Given the description of an element on the screen output the (x, y) to click on. 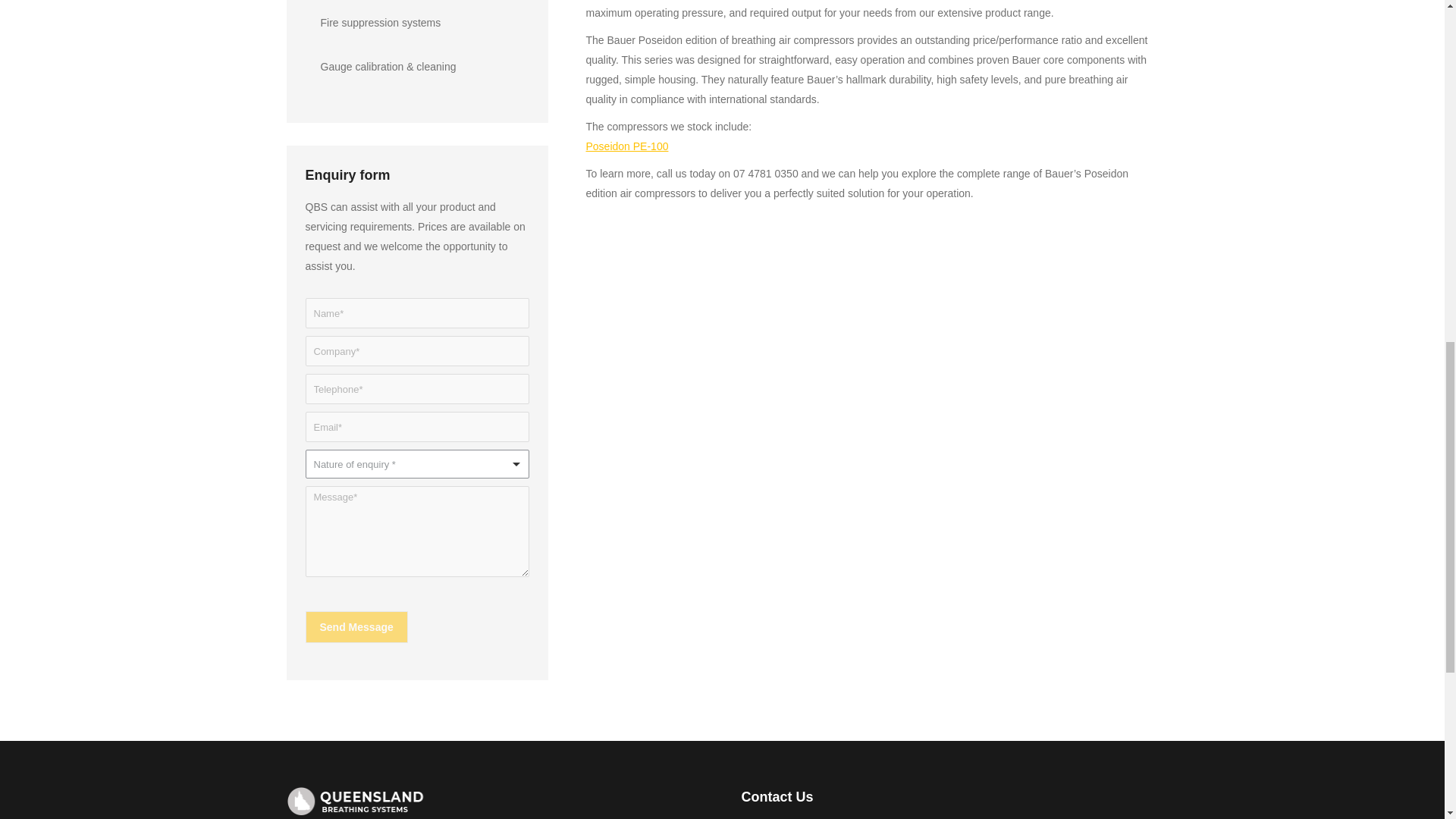
Page 8 (871, 101)
